Given the description of an element on the screen output the (x, y) to click on. 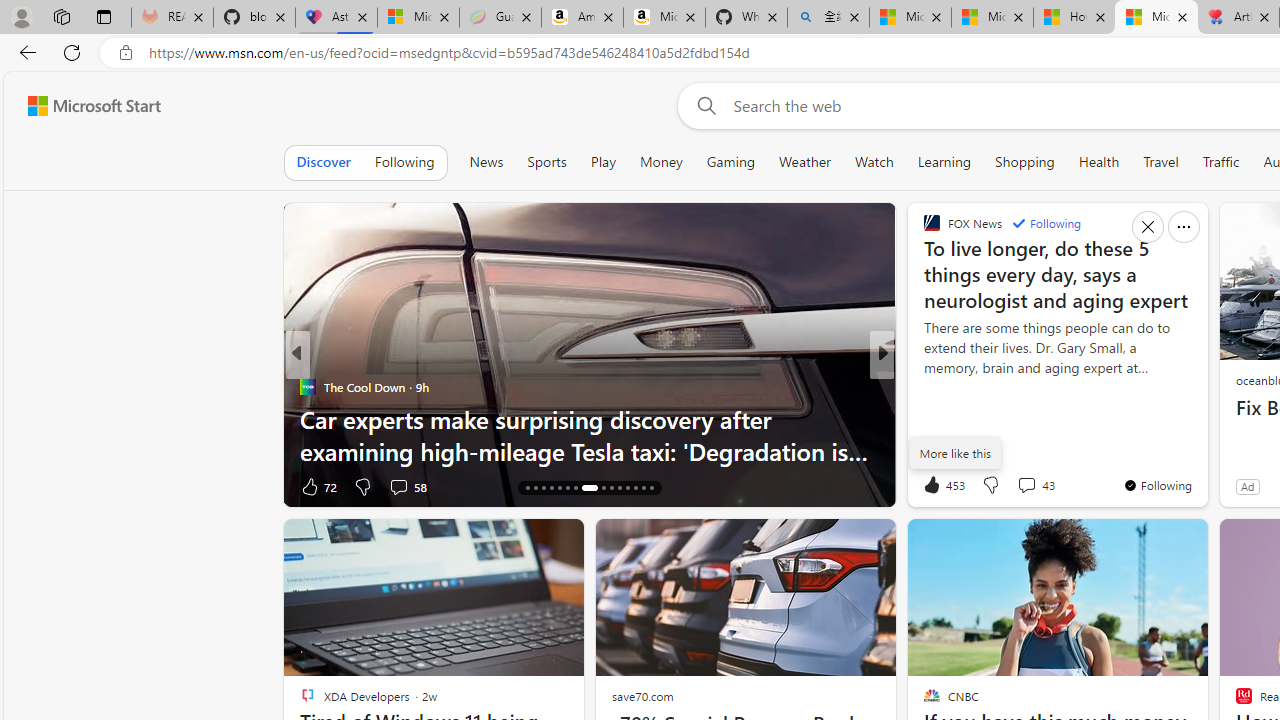
View comments 496 Comment (1025, 486)
AutomationID: tab-30 (650, 487)
You're following FOX News (1157, 485)
AutomationID: tab-18 (542, 487)
View comments 3 Comment (391, 485)
View comments 197 Comment (1019, 485)
View comments 67 Comment (1019, 485)
